Given the description of an element on the screen output the (x, y) to click on. 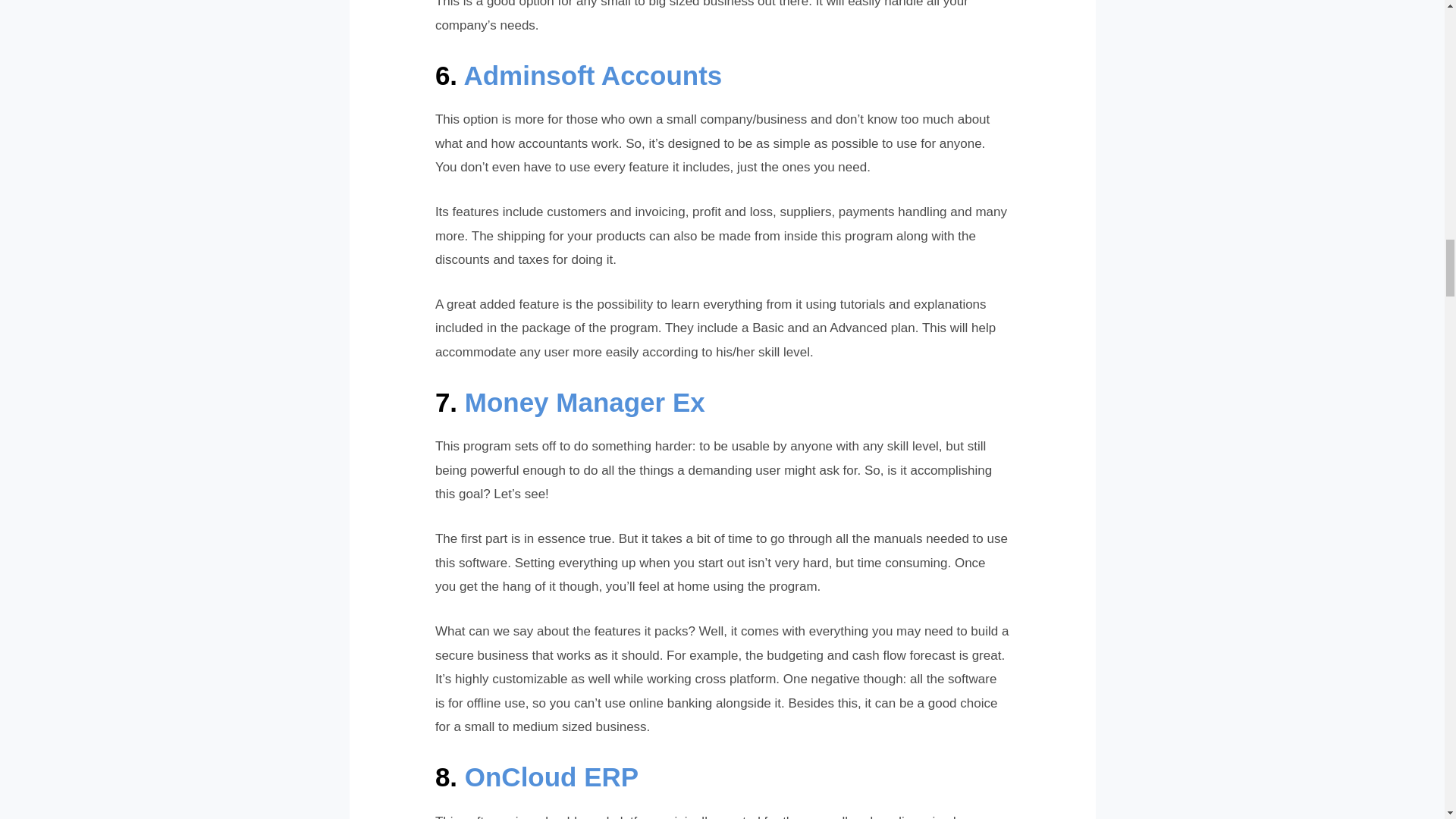
Money Manager Ex (584, 401)
OnCloud ERP (551, 776)
Adminsoft Accounts (592, 75)
